Given the description of an element on the screen output the (x, y) to click on. 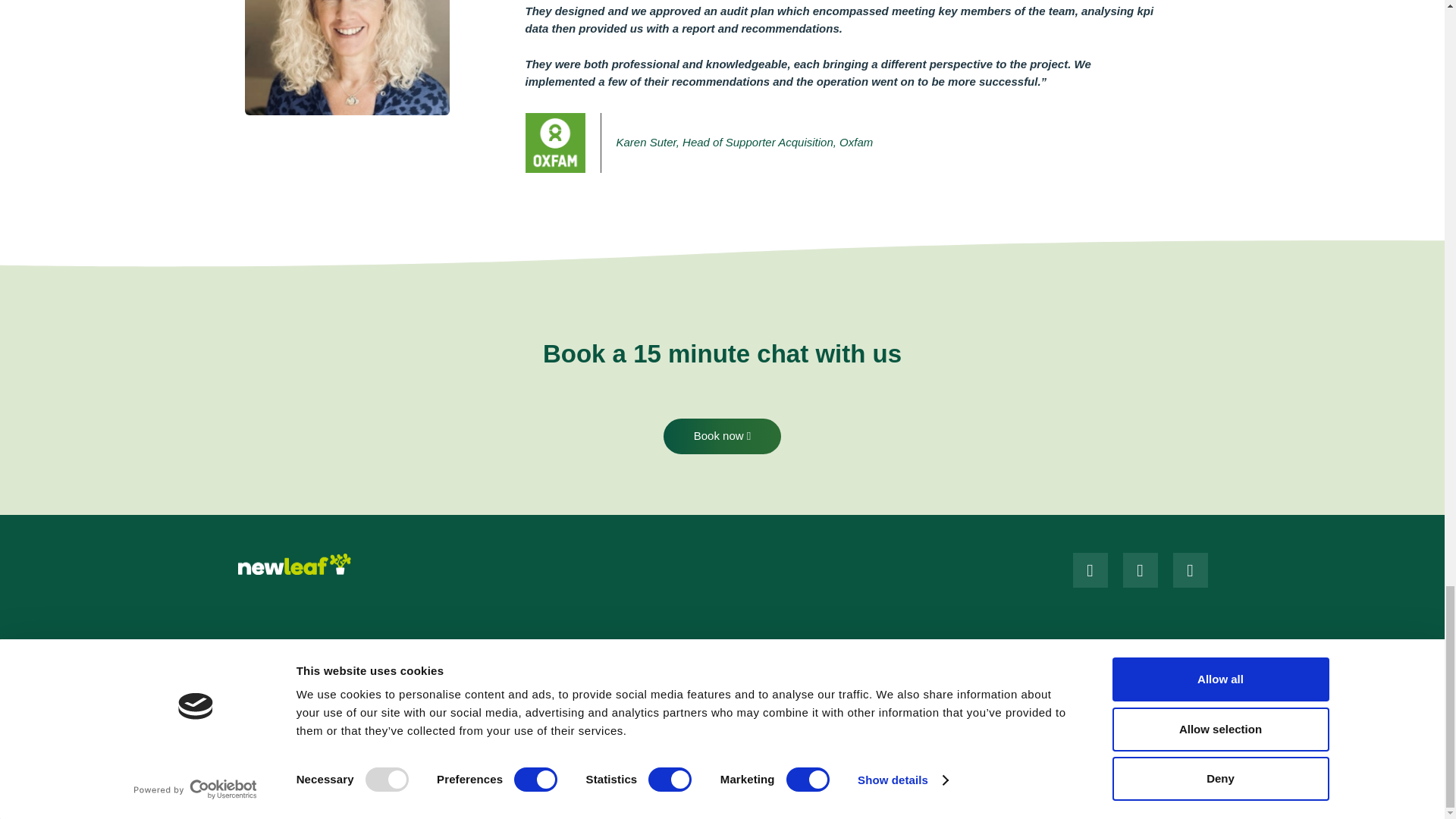
New Leaf (292, 562)
